Given the description of an element on the screen output the (x, y) to click on. 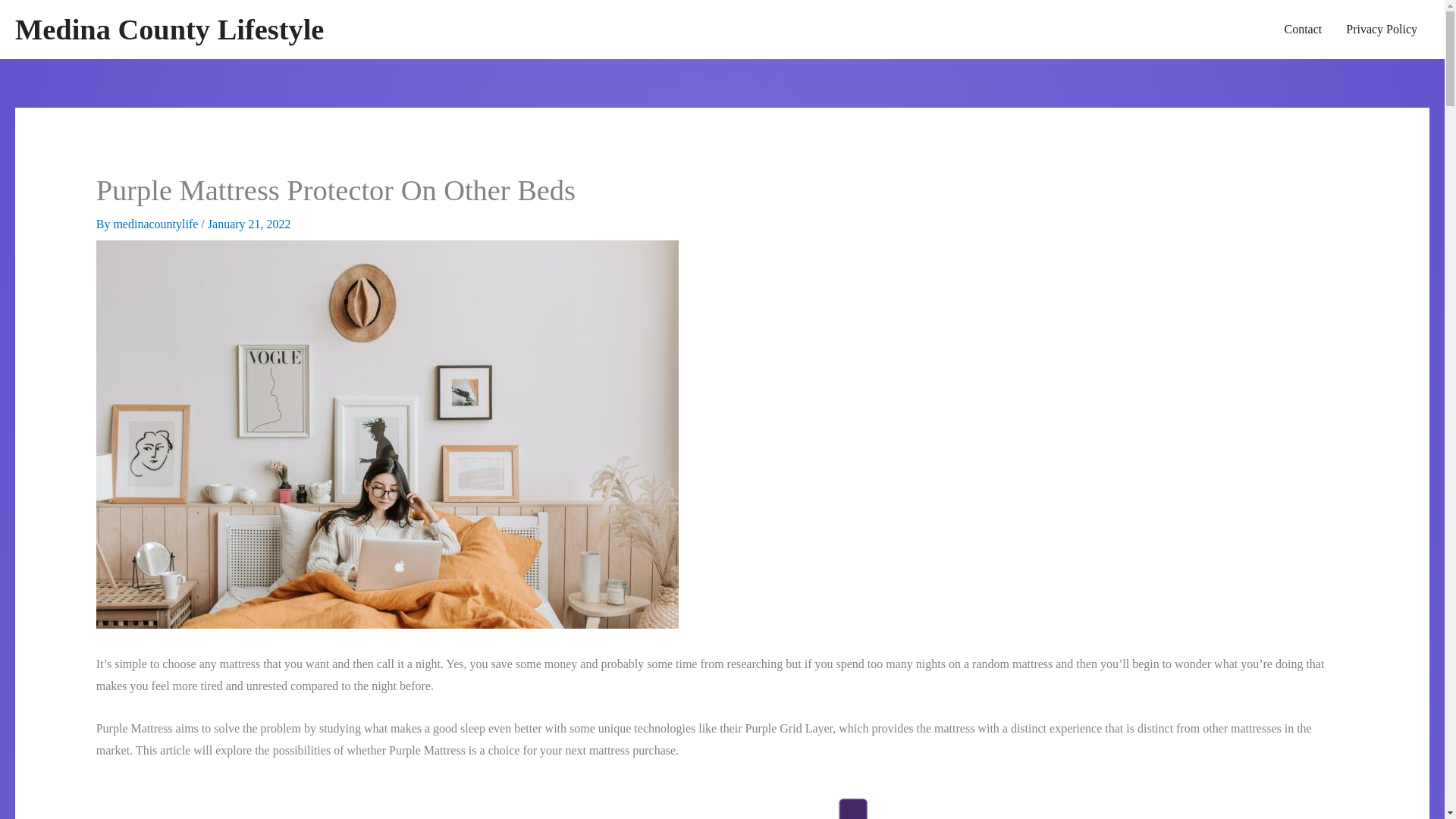
medinacountylife (156, 223)
View all posts by medinacountylife (156, 223)
Contact (1302, 29)
Privacy Policy (1381, 29)
Medina County Lifestyle (168, 29)
